Given the description of an element on the screen output the (x, y) to click on. 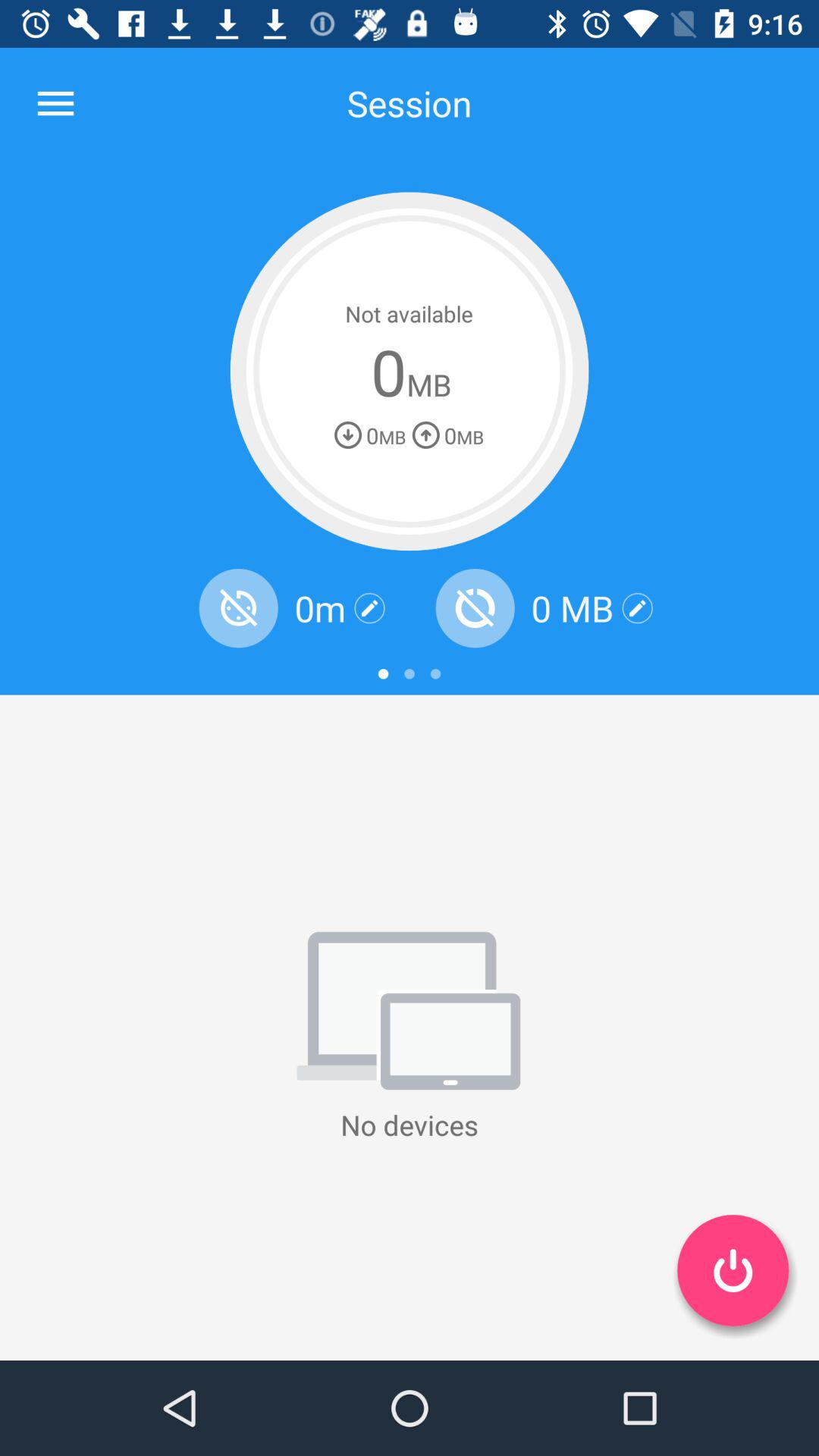
enable timer (238, 607)
